Given the description of an element on the screen output the (x, y) to click on. 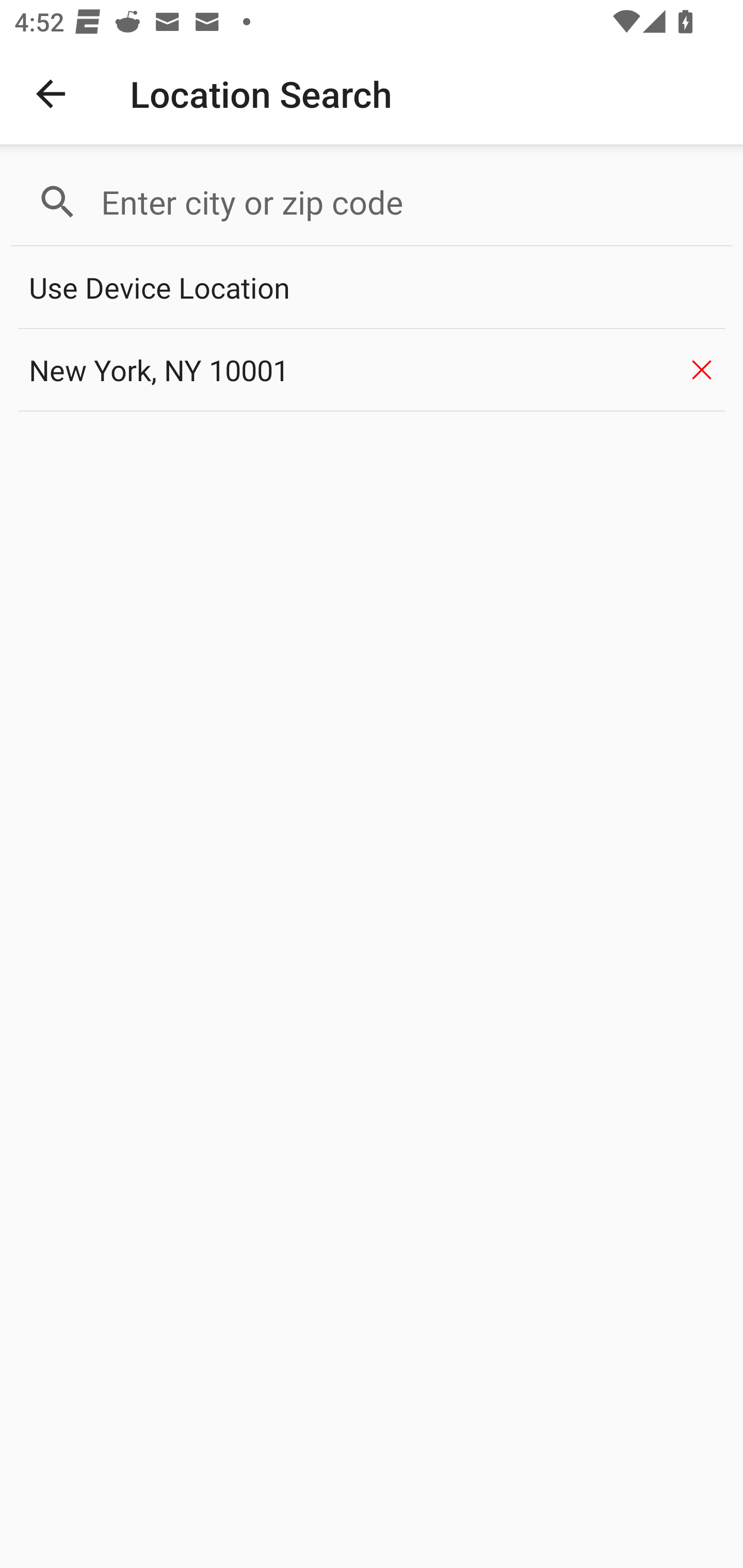
Navigate up (50, 93)
Enter city or zip code (407, 202)
Use Device Location (371, 287)
